Given the description of an element on the screen output the (x, y) to click on. 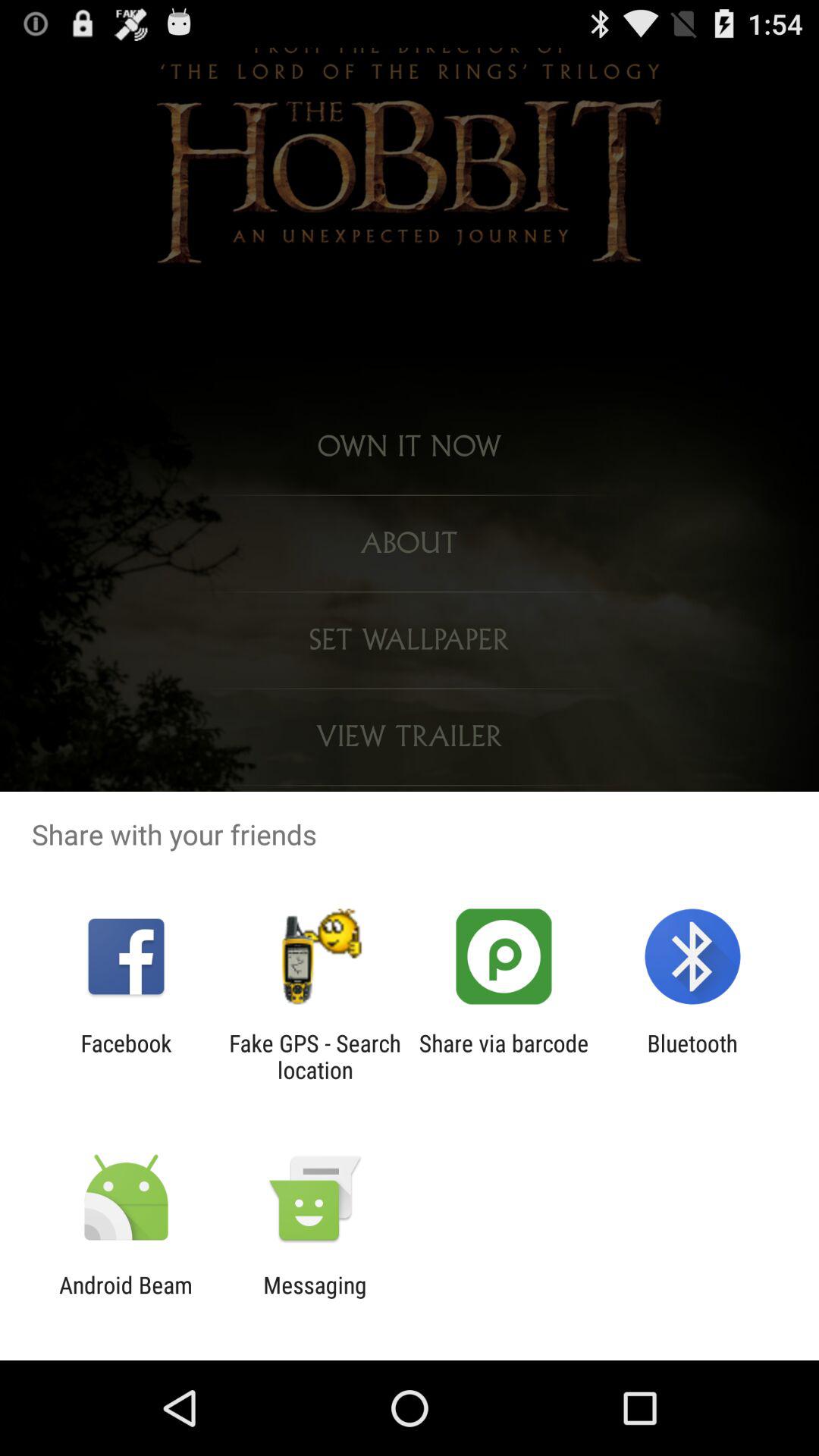
press the app next to share via barcode app (692, 1056)
